Given the description of an element on the screen output the (x, y) to click on. 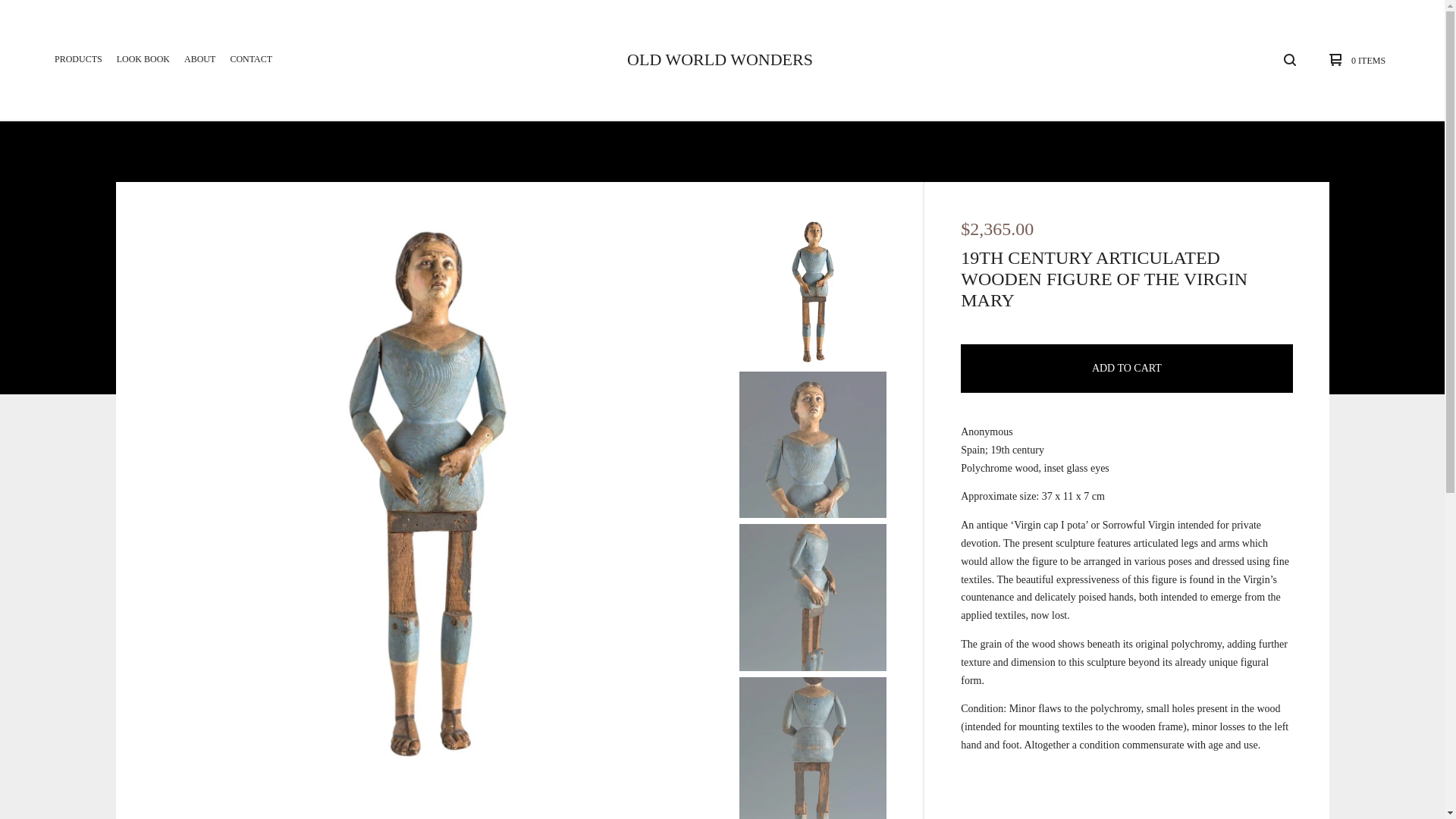
0 ITEMS (1353, 59)
OLD WORLD WONDERS (719, 58)
ADD TO CART (1126, 368)
View Look Book (143, 59)
PRODUCTS (77, 59)
Products (77, 59)
LOOK BOOK (143, 59)
OLD WORLD WONDERS (719, 58)
Cart (1353, 59)
View About (199, 59)
ABOUT (199, 59)
CONTACT (251, 59)
Contact (251, 59)
